Given the description of an element on the screen output the (x, y) to click on. 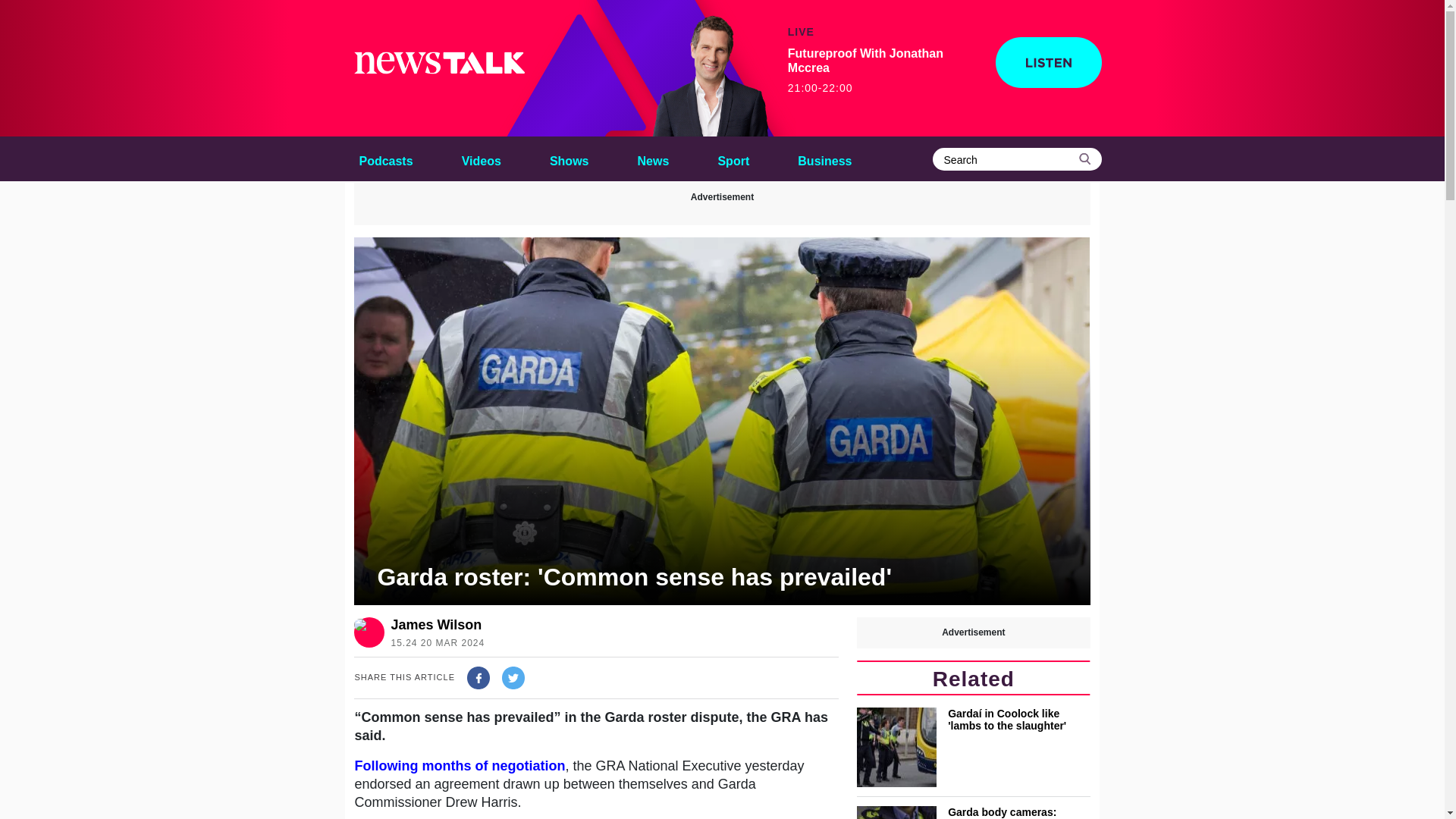
James Wilson (435, 624)
News (653, 158)
Business (824, 158)
Videos (481, 158)
Business (824, 158)
Futureproof With Jonathan Mccrea (881, 70)
Shows (701, 68)
Shows (569, 158)
